Given the description of an element on the screen output the (x, y) to click on. 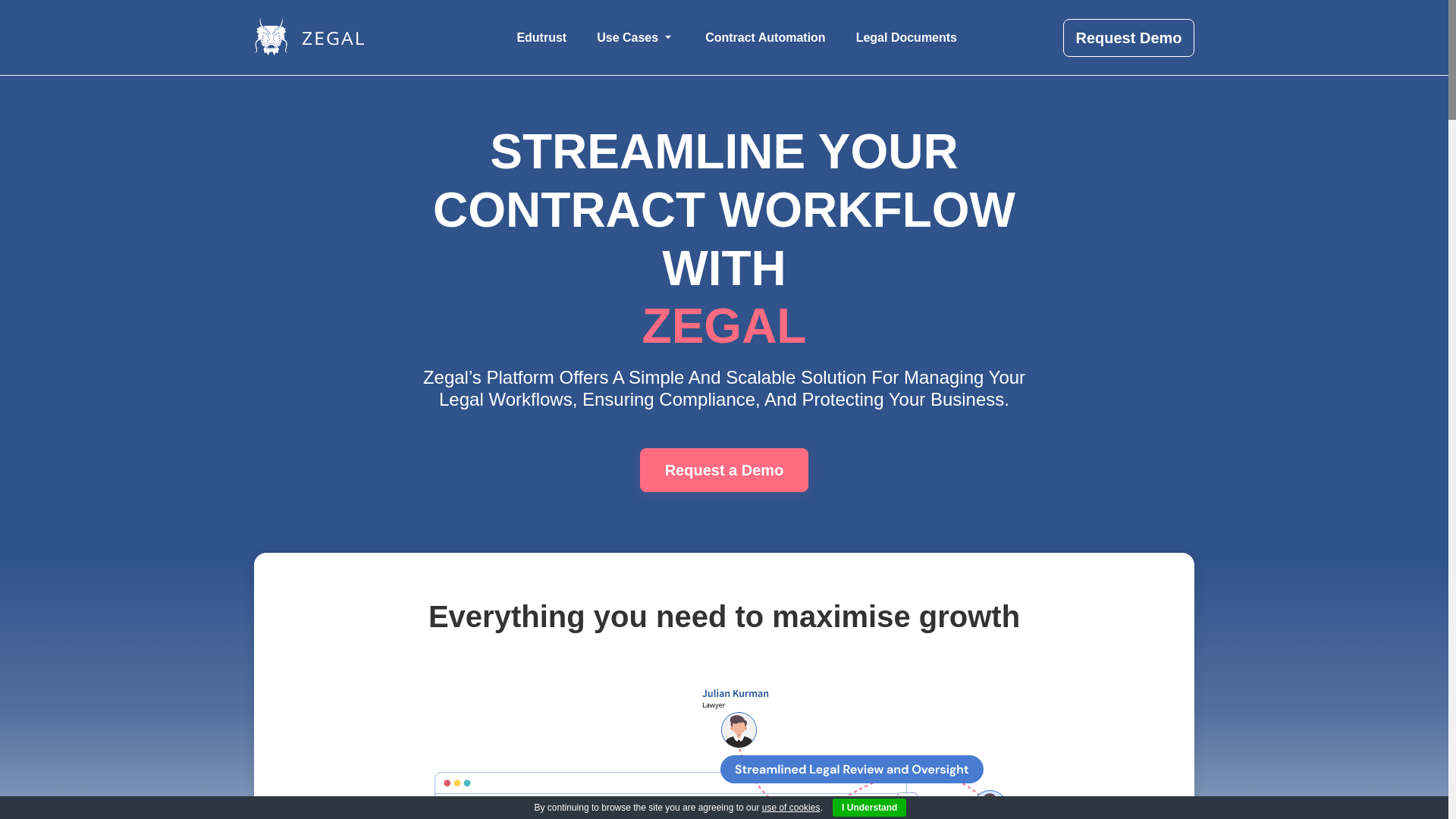
Use Cases (635, 36)
Edutrust (540, 36)
Request a Demo (724, 469)
Legal Documents (906, 36)
Request Demo (1127, 37)
Home Banner Image (664, 752)
Contract Automation (765, 36)
use of cookies (791, 807)
I Understand (868, 807)
